Given the description of an element on the screen output the (x, y) to click on. 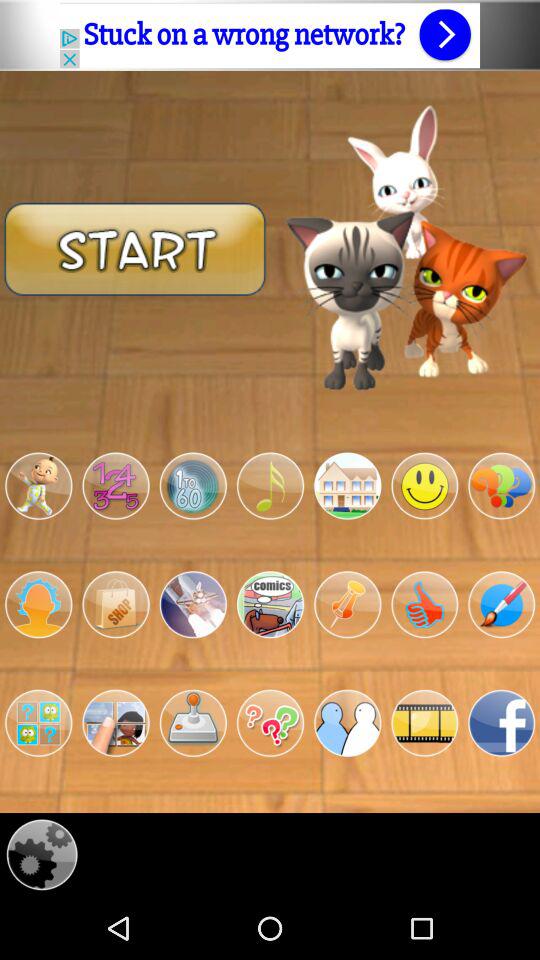
count (115, 485)
